Given the description of an element on the screen output the (x, y) to click on. 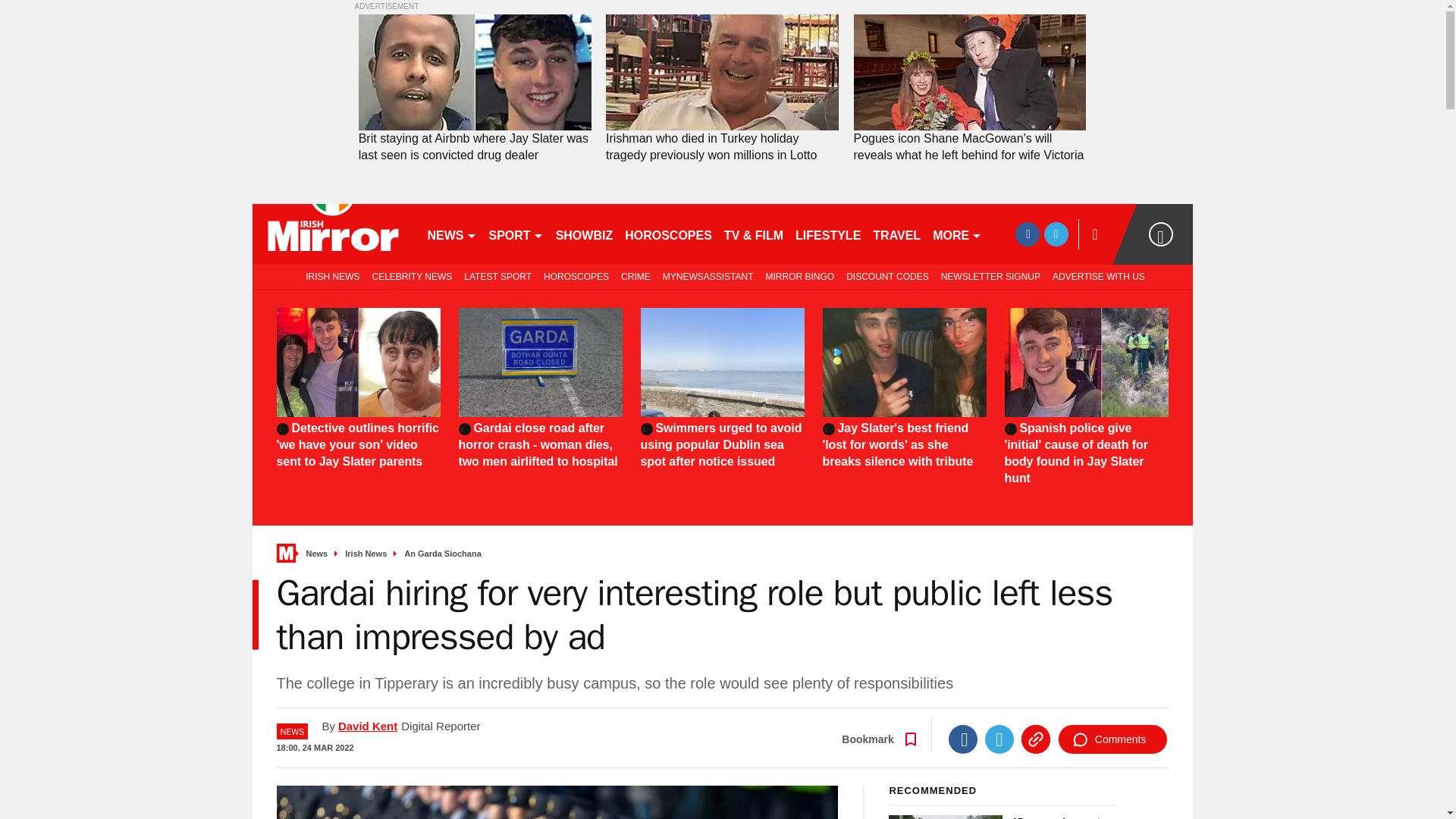
NEWS (452, 233)
Comments (1112, 738)
TRAVEL (896, 233)
MORE (957, 233)
SPORT (514, 233)
IRISH NEWS (329, 275)
SHOWBIZ (585, 233)
HOROSCOPES (667, 233)
Twitter (999, 738)
